Given the description of an element on the screen output the (x, y) to click on. 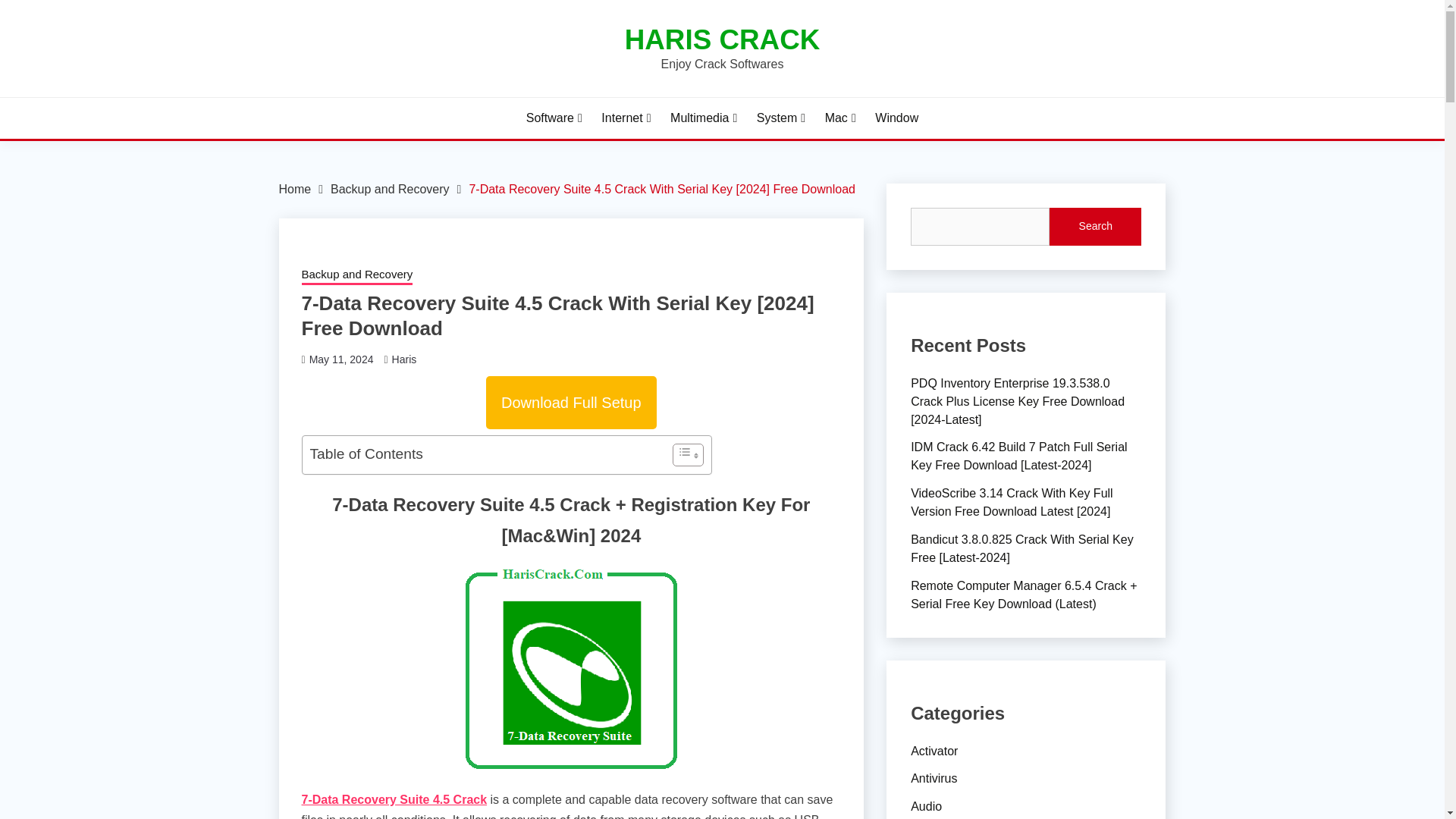
May 11, 2024 (341, 358)
Haris (403, 358)
Download Full Setup (571, 403)
Internet (625, 117)
Mac (840, 117)
System (781, 117)
Window (896, 117)
Home (295, 188)
Download Full Setup (571, 402)
Software (553, 117)
Backup and Recovery (389, 188)
Multimedia (702, 117)
Backup and Recovery (357, 275)
HARIS CRACK (722, 39)
